Given the description of an element on the screen output the (x, y) to click on. 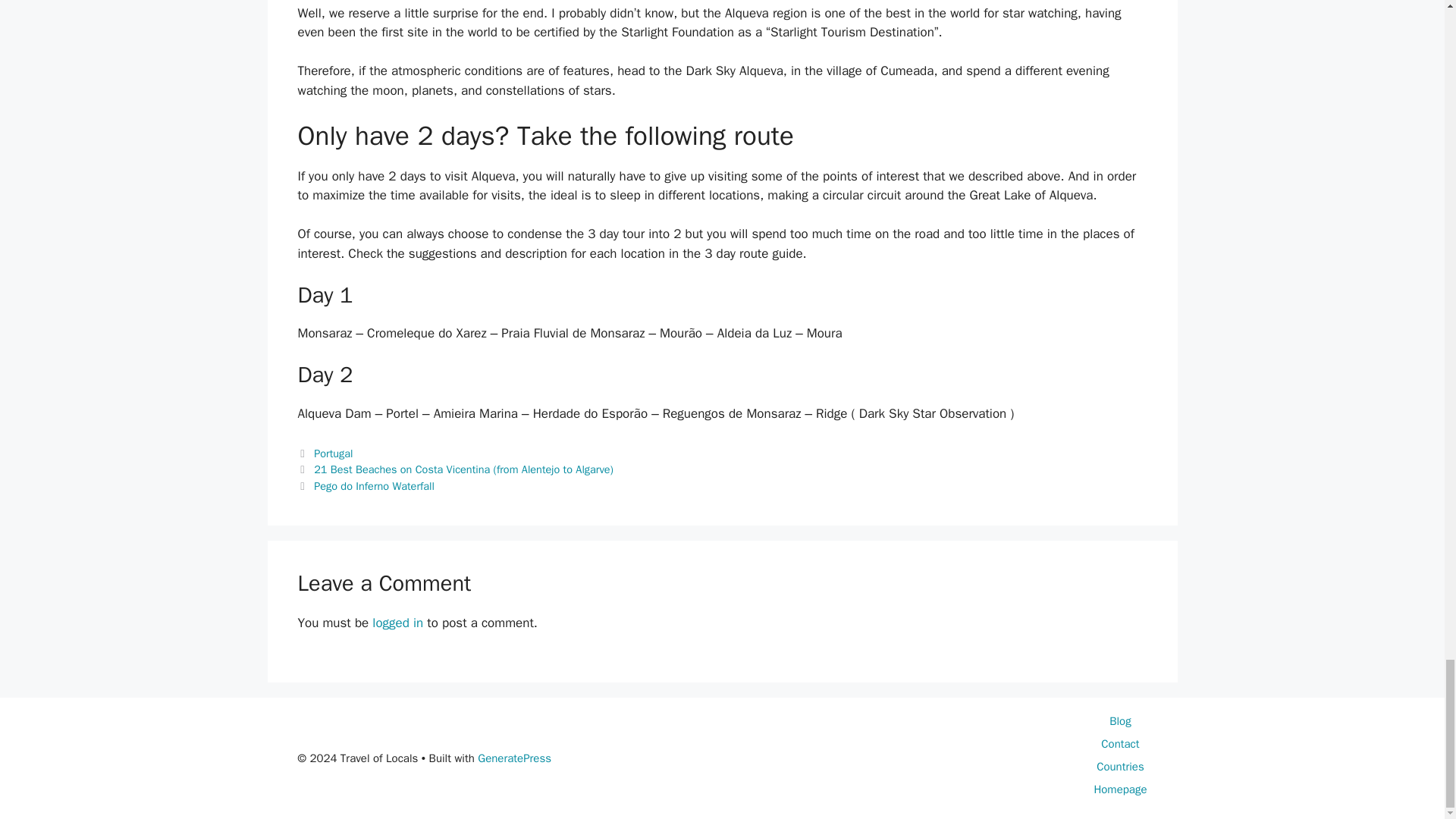
logged in (397, 622)
Portugal (333, 453)
Pego do Inferno Waterfall (373, 486)
Homepage (1120, 789)
Countries (1120, 766)
Contact (1119, 744)
Blog (1120, 721)
GeneratePress (514, 757)
